Given the description of an element on the screen output the (x, y) to click on. 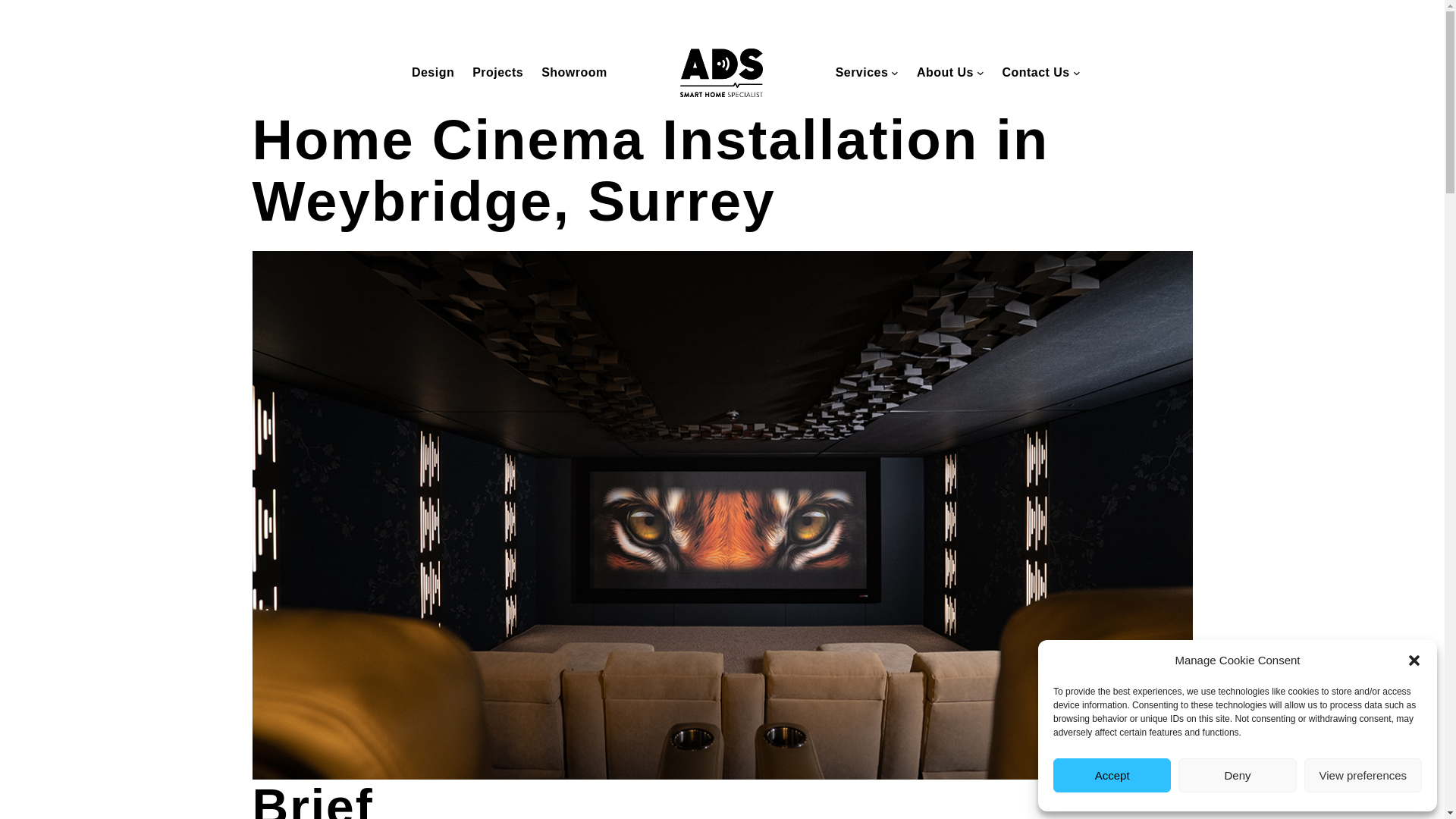
Design (433, 72)
About Us (945, 72)
Deny (1236, 775)
Services (861, 72)
Projects (496, 72)
Accept (1111, 775)
0800 876 6258 (791, 18)
View preferences (1363, 775)
Showroom (574, 72)
